Given the description of an element on the screen output the (x, y) to click on. 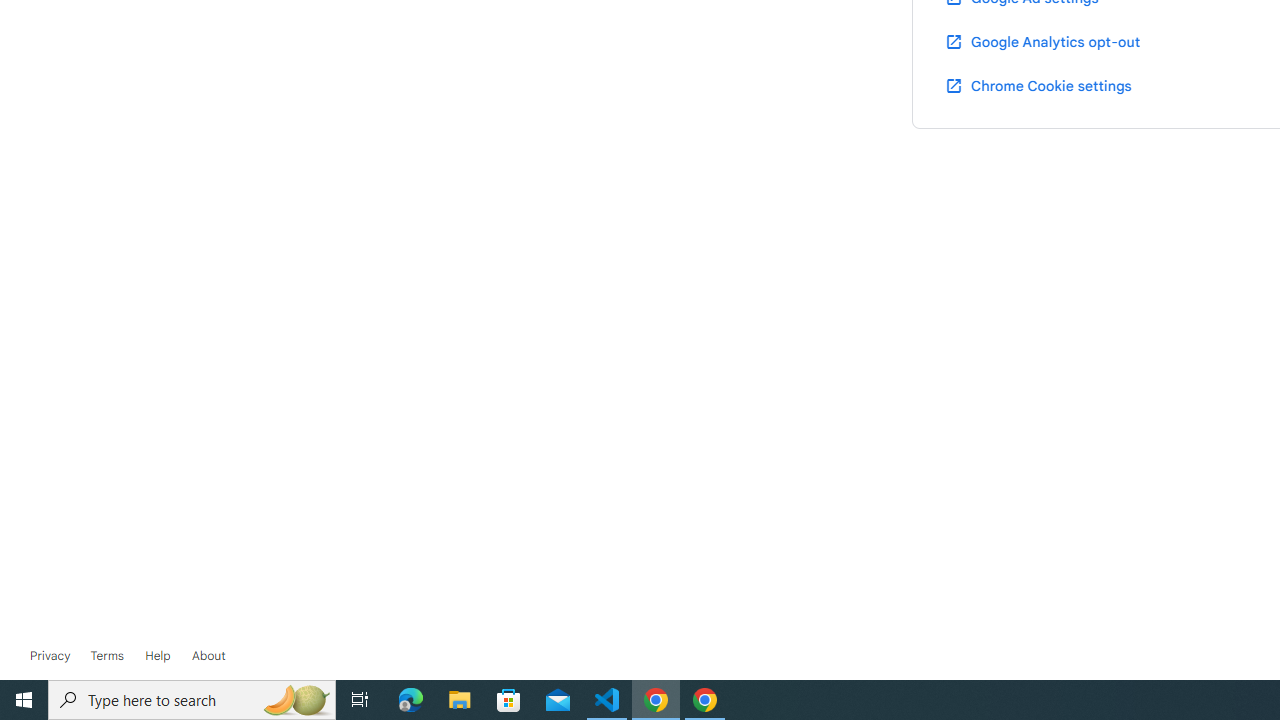
Learn more about Google Account (208, 655)
Google Analytics opt-out (1041, 41)
Privacy (50, 655)
Chrome Cookie settings (1037, 85)
Terms (106, 655)
Help (158, 655)
